Given the description of an element on the screen output the (x, y) to click on. 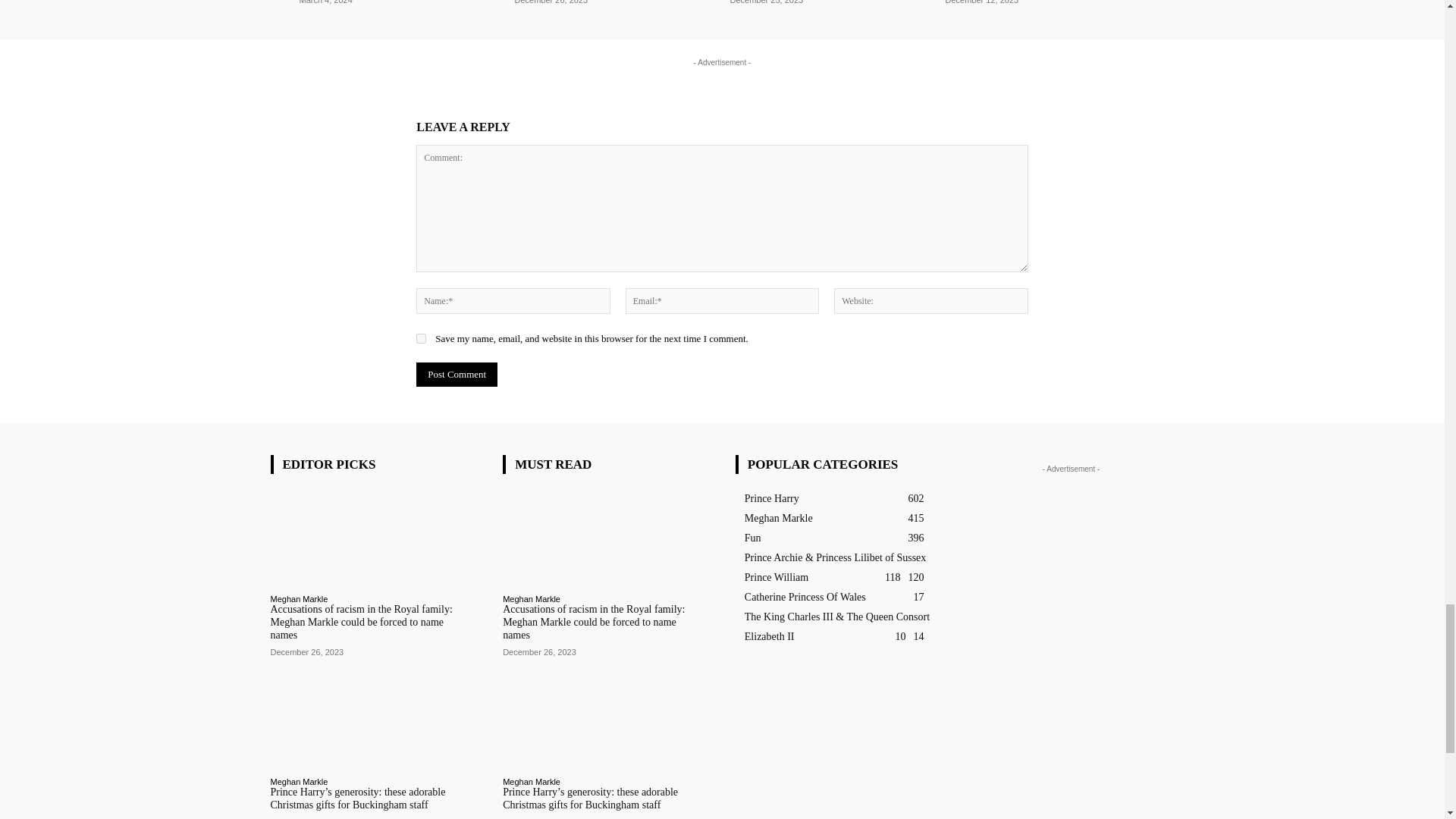
yes (421, 338)
Post Comment (456, 374)
